Given the description of an element on the screen output the (x, y) to click on. 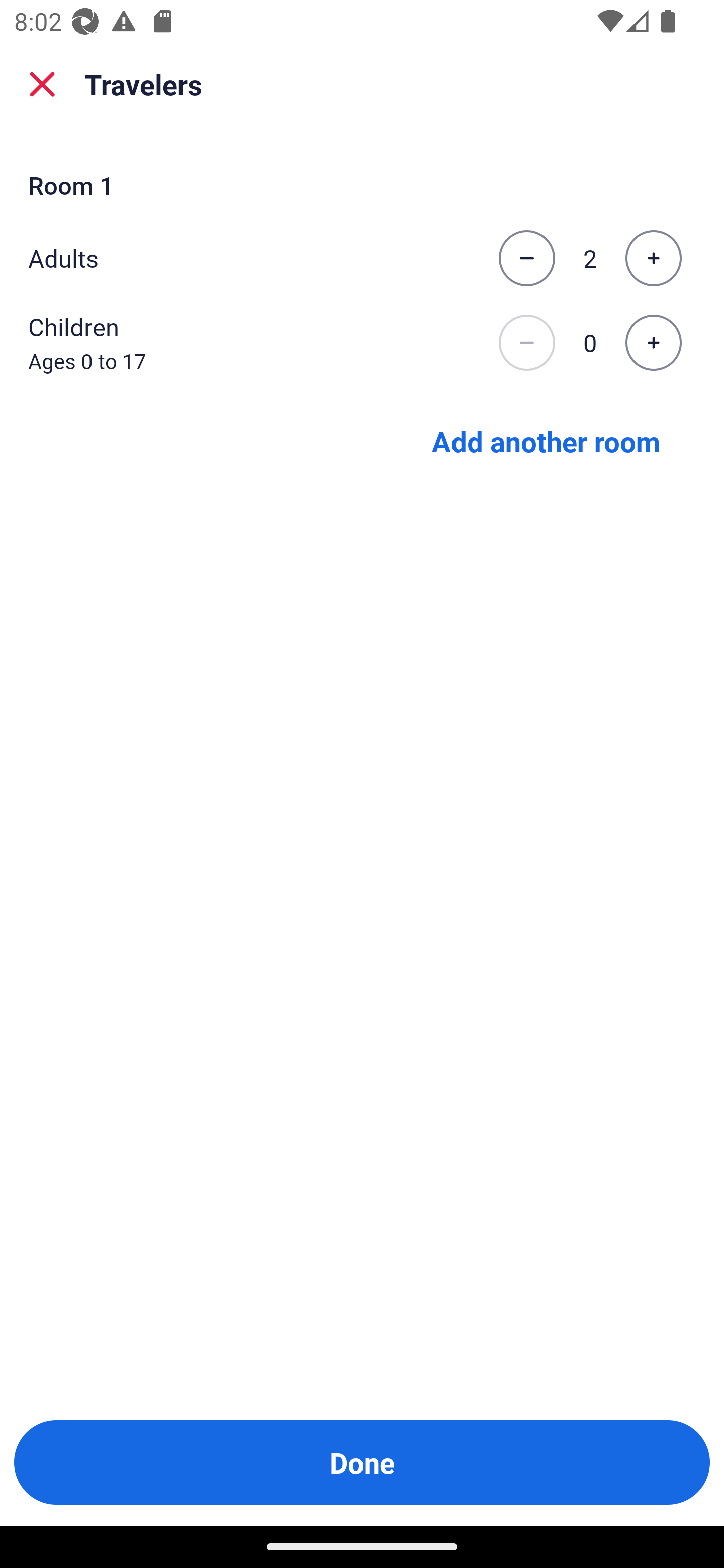
close (42, 84)
Decrease the number of adults (526, 258)
Increase the number of adults (653, 258)
Decrease the number of children (526, 343)
Increase the number of children (653, 343)
Add another room (545, 440)
Done (361, 1462)
